Given the description of an element on the screen output the (x, y) to click on. 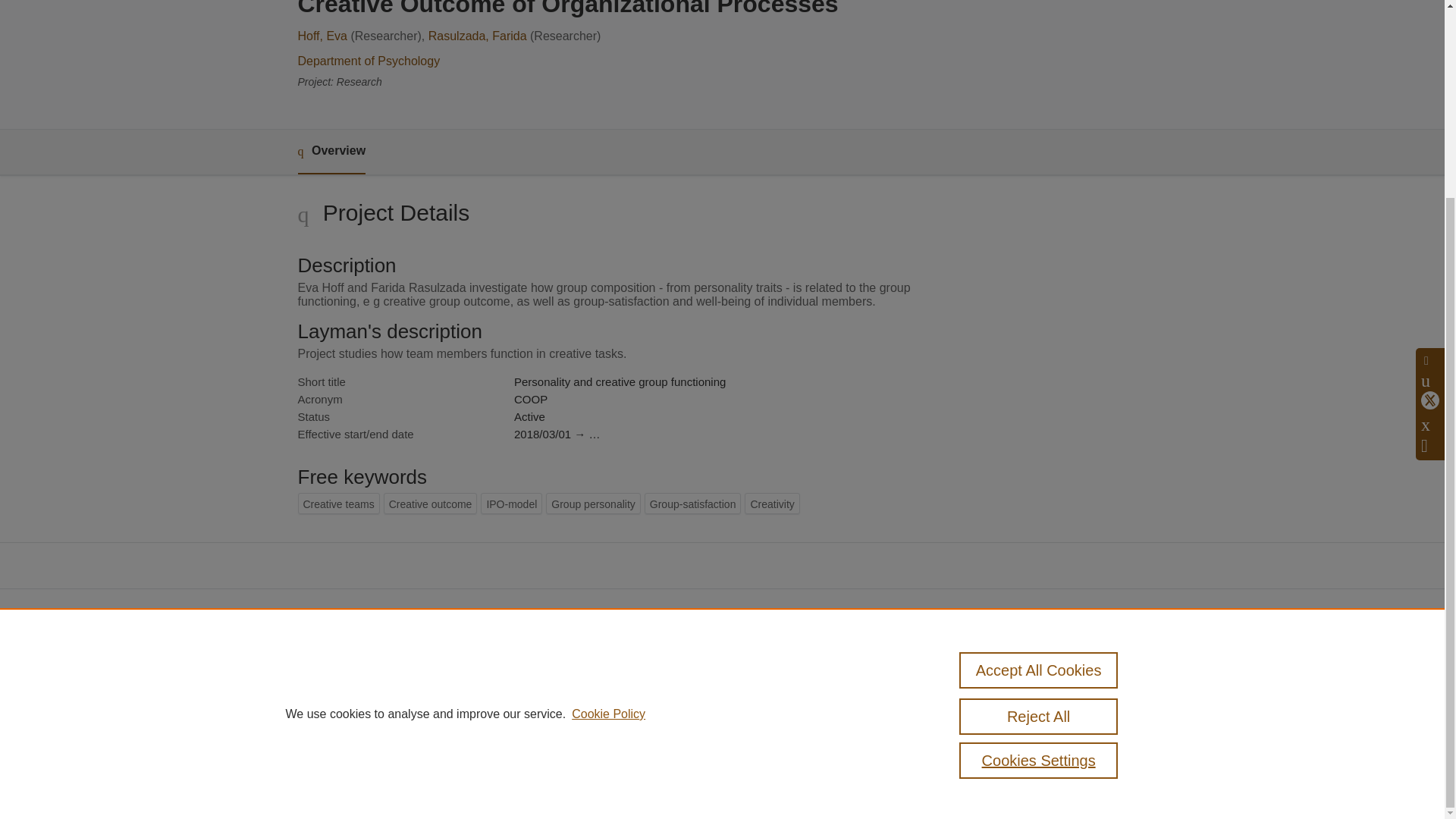
Cookies Settings (334, 761)
Report vulnerability (1069, 740)
Cookie Policy (608, 463)
Cookies Settings (1038, 510)
Elsevier B.V. (506, 708)
Scopus (394, 687)
Hoff, Eva (322, 35)
Lund University data protection policy (1072, 693)
Rasulzada, Farida (477, 35)
Overview (331, 151)
Department of Psychology (368, 60)
use of cookies (796, 740)
Log in to Pure (327, 781)
Pure (362, 687)
About web accessibility (1078, 719)
